Given the description of an element on the screen output the (x, y) to click on. 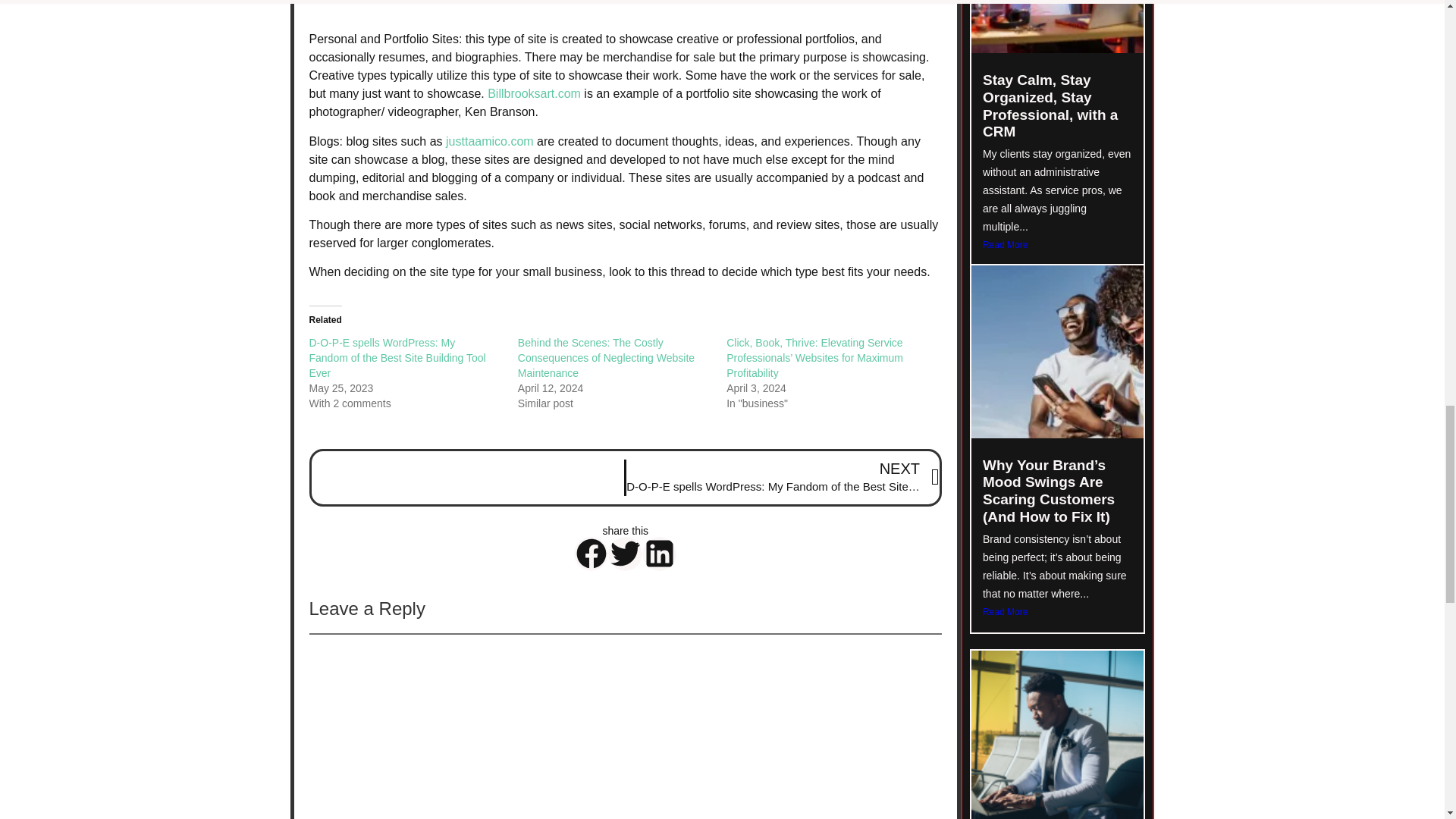
justtaamico.com (489, 141)
Stay Calm, Stay Organized, Stay Professional, with a CRM (1050, 105)
Billbrooksart.co (528, 92)
Read More (1057, 611)
Stay Calm, Stay Organized, Stay Professional, with a CRM (1050, 105)
Comment Form (625, 726)
Read More (1057, 244)
